Given the description of an element on the screen output the (x, y) to click on. 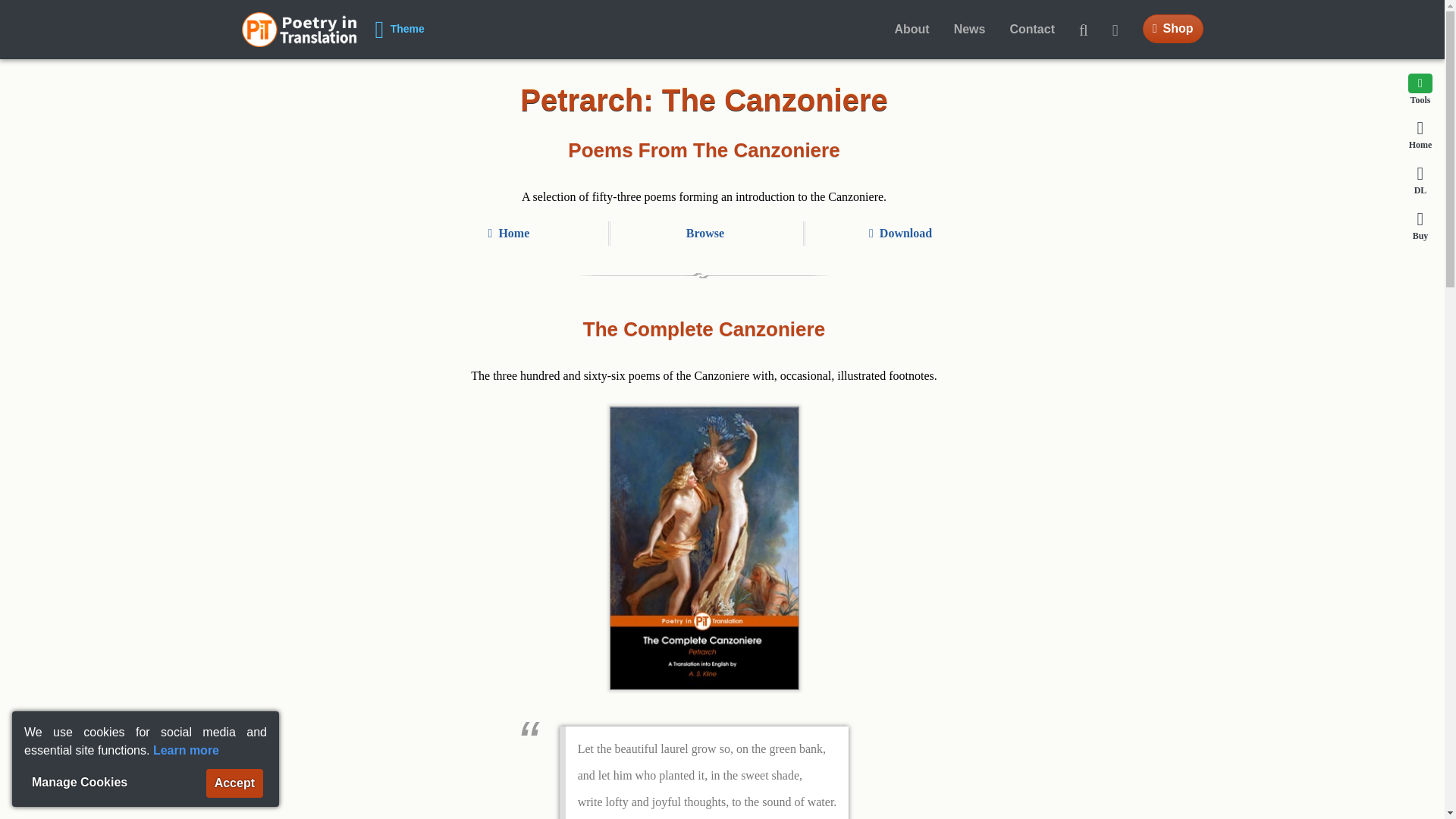
Home (1420, 133)
News (969, 29)
Buy This Book (1420, 224)
News Updates (969, 29)
  Download (900, 232)
Home (1420, 133)
Shop (1173, 28)
Browse (704, 232)
Buy Print Editions (1173, 28)
About Us (911, 29)
Account Login (1121, 29)
Home (298, 29)
Download (1420, 179)
Contact (1032, 29)
Buy (1420, 224)
